Given the description of an element on the screen output the (x, y) to click on. 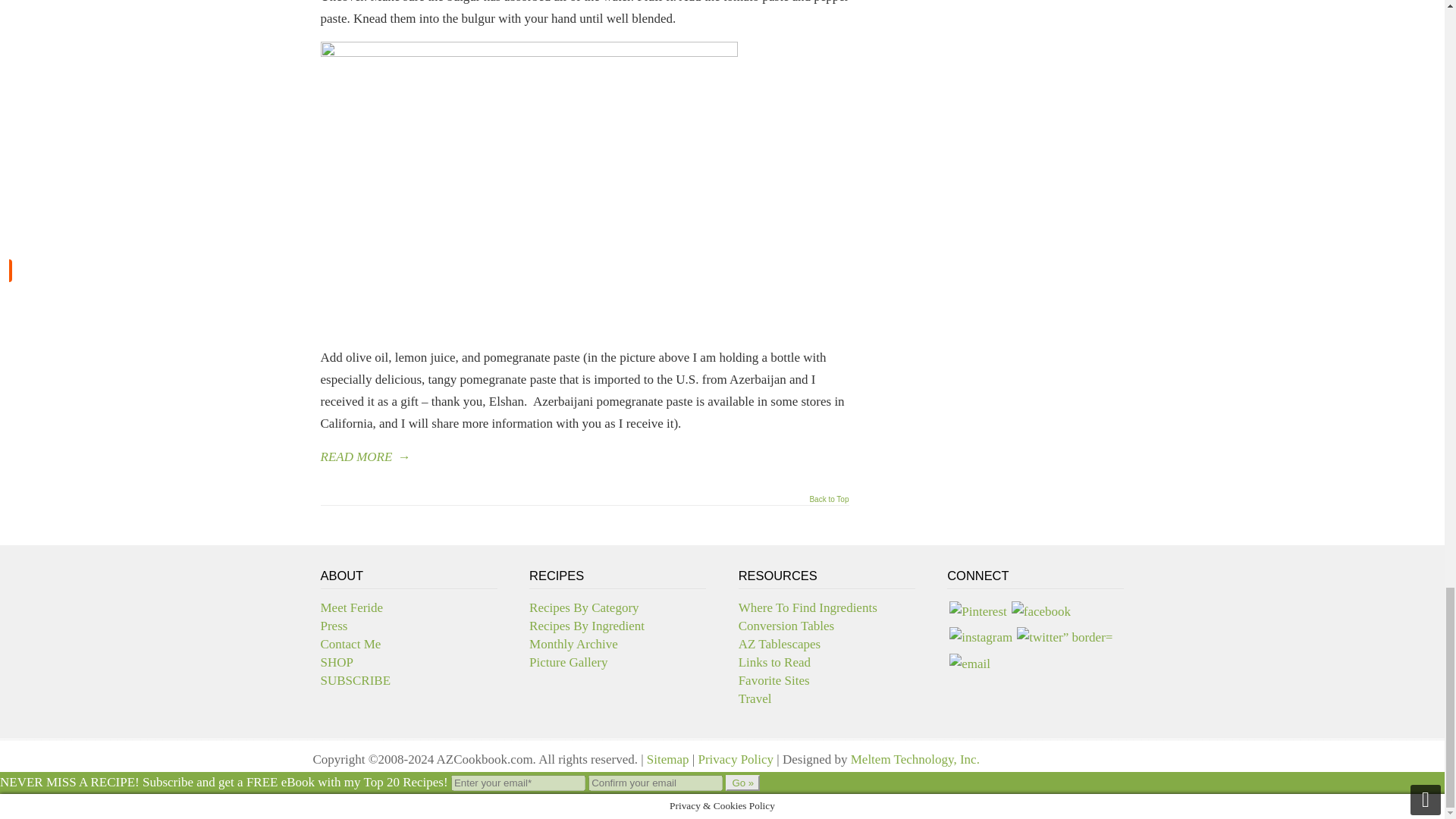
Back to Top (828, 503)
Pomegranate paste, narsharab, from Azerbaijan (528, 188)
